Given the description of an element on the screen output the (x, y) to click on. 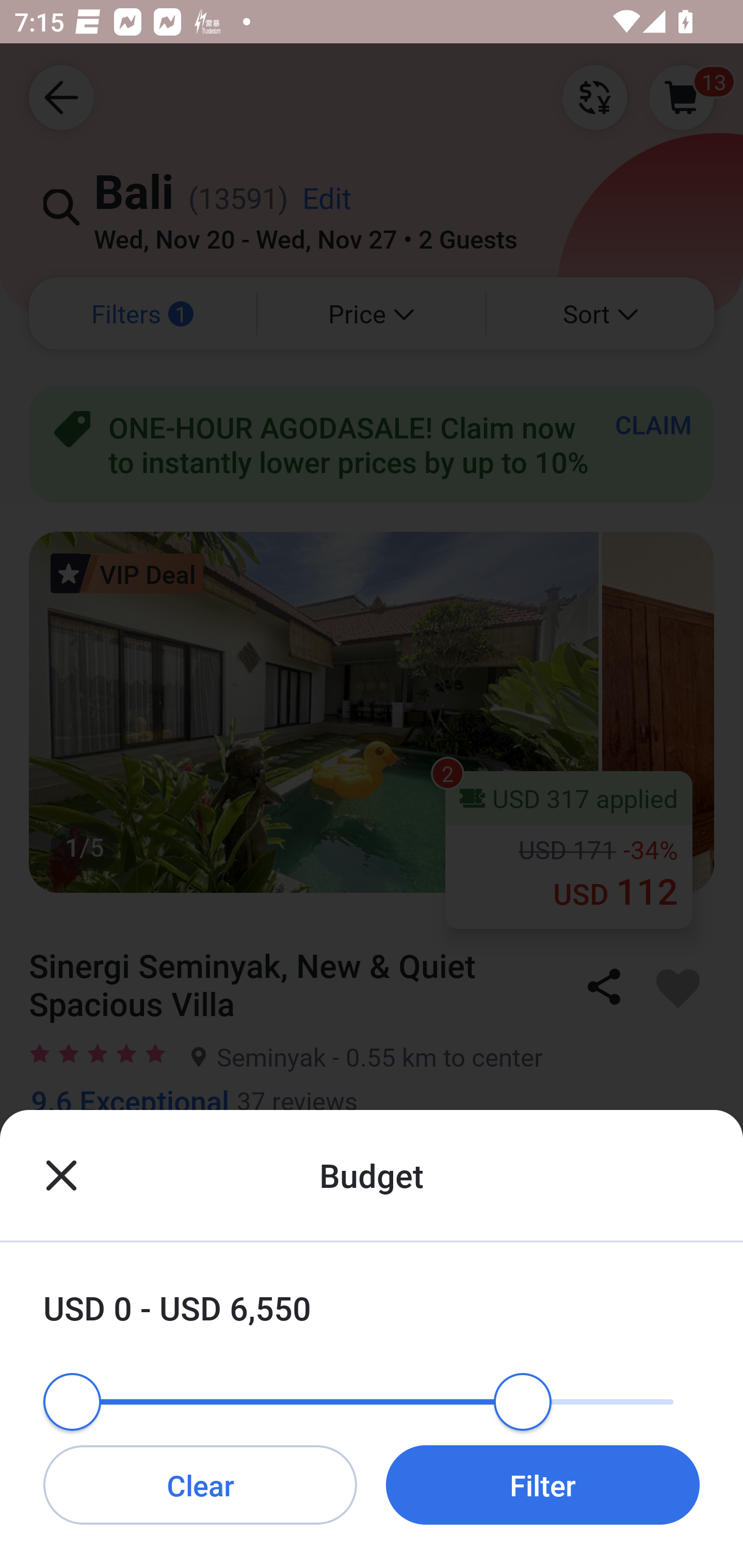
2 rewards applied USD 317 off (371, 1322)
Clear (200, 1484)
Filter (542, 1484)
